Given the description of an element on the screen output the (x, y) to click on. 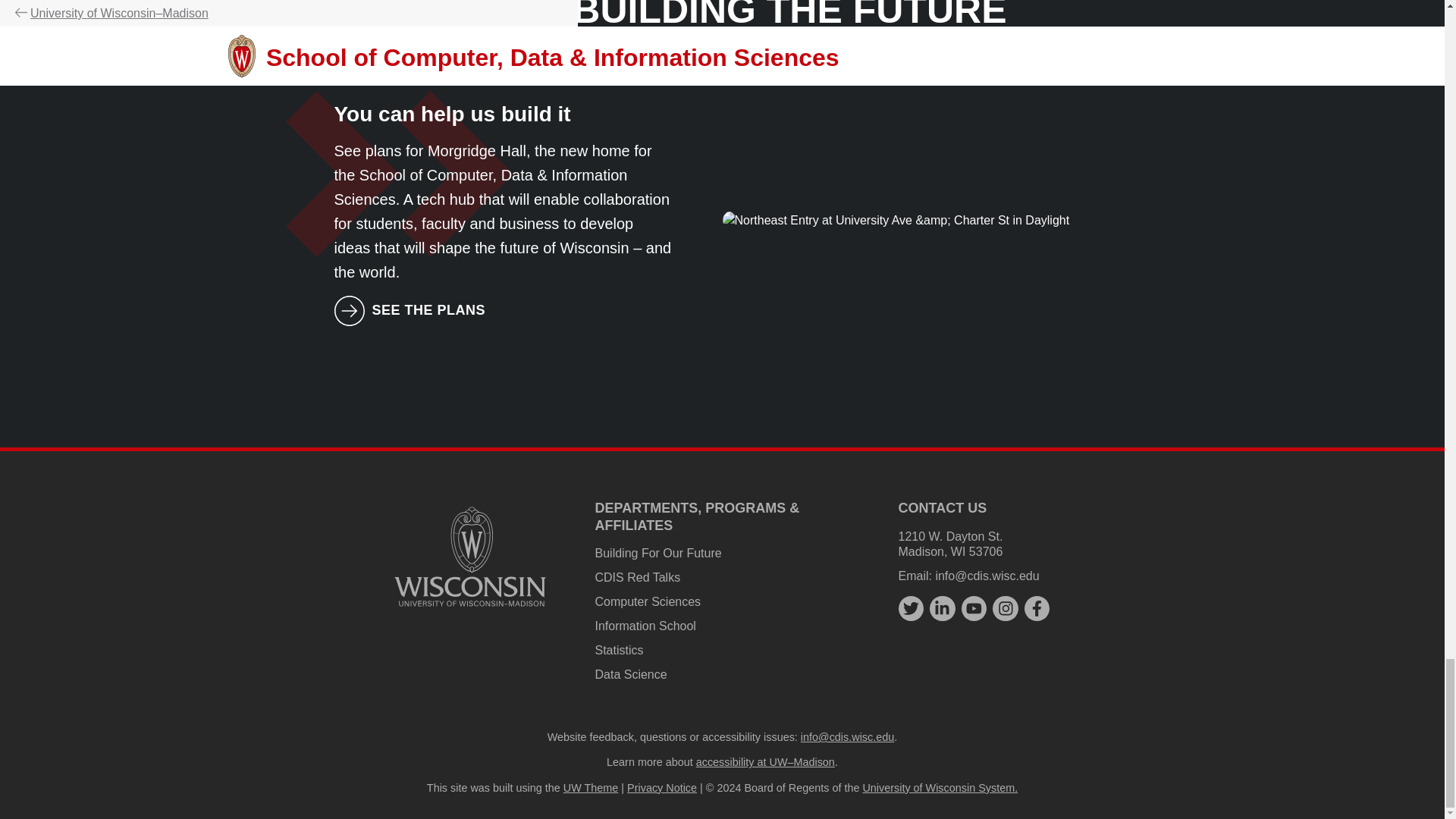
University logo that links to main university website (470, 556)
youtube (973, 608)
linkedin (941, 608)
facebook (1037, 608)
twitter (910, 608)
instagram (1005, 608)
